Given the description of an element on the screen output the (x, y) to click on. 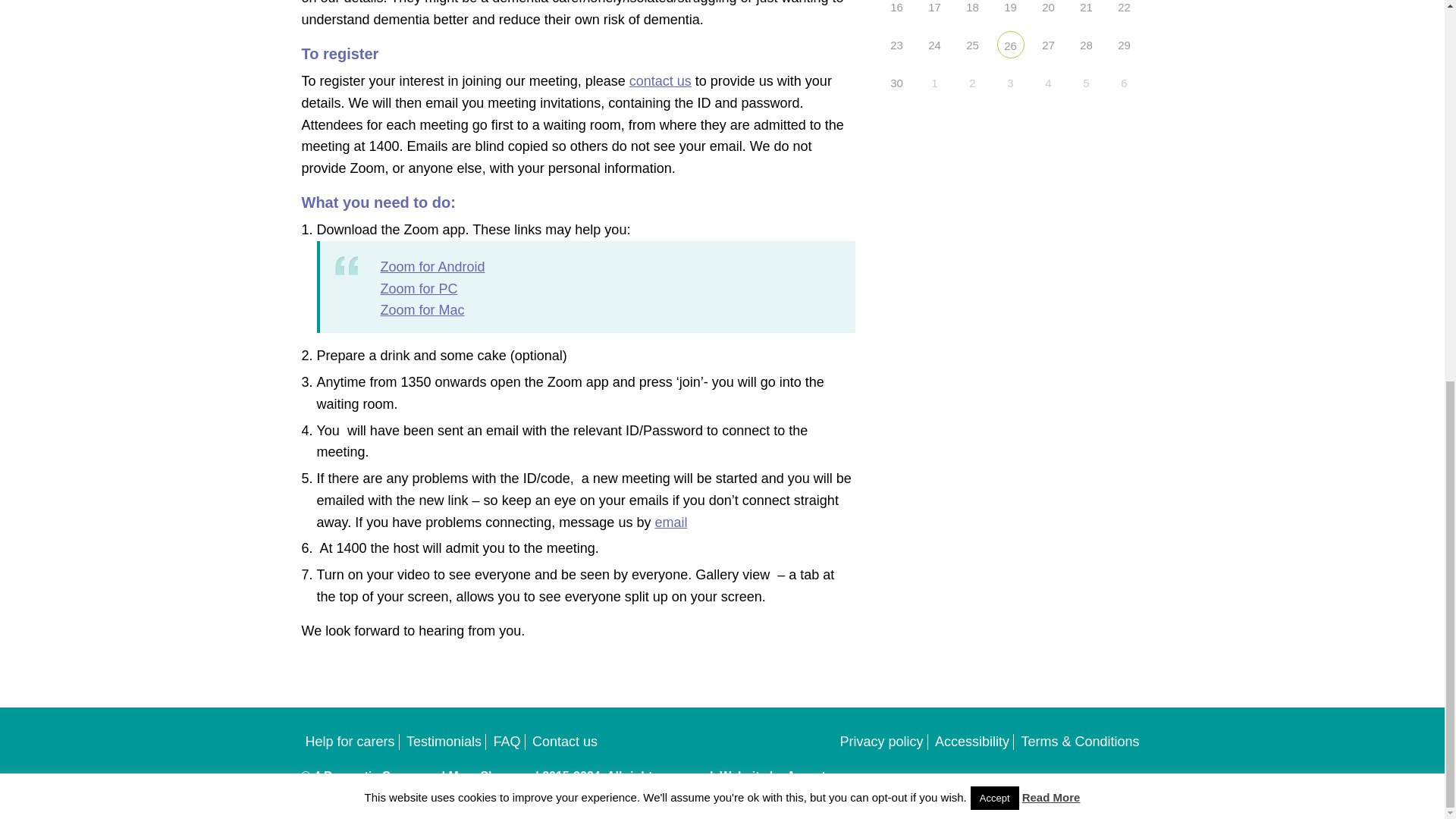
contact us (659, 80)
Dementia Carer Network (1009, 44)
Zoom for Android (432, 266)
Zoom for Mac (422, 309)
Zoom for PC (419, 288)
email (670, 522)
